Given the description of an element on the screen output the (x, y) to click on. 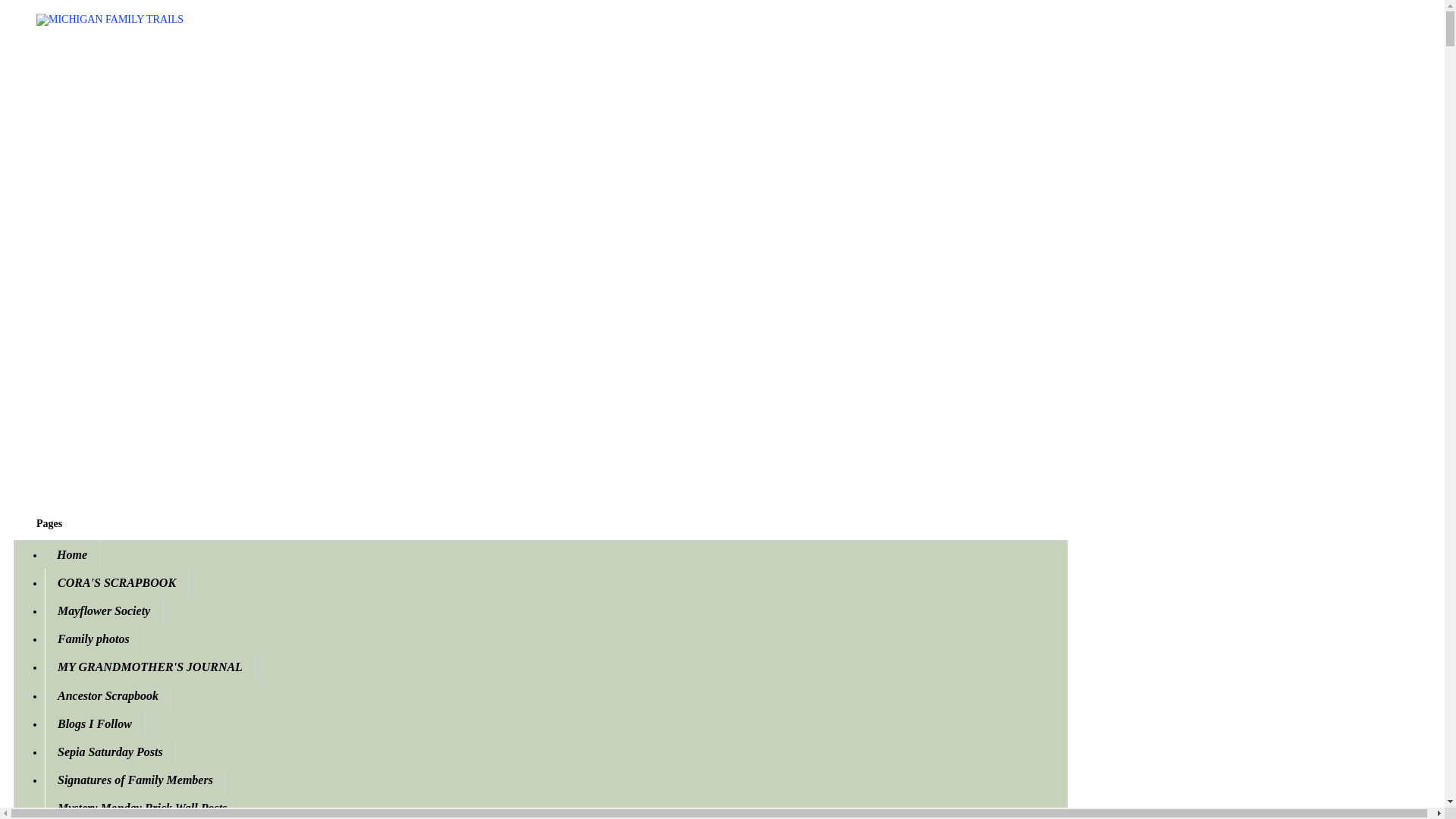
Blogs I Follow (94, 723)
MY GRANDMOTHER'S JOURNAL (150, 667)
Signatures of Family Members (135, 779)
Mayflower Society (104, 610)
Ancestor Scrapbook (108, 695)
CORA'S SCRAPBOOK (117, 582)
Family photos (93, 639)
Sepia Saturday Posts (110, 751)
Mystery Monday Brick Wall Posts (142, 806)
Home (72, 554)
